Given the description of an element on the screen output the (x, y) to click on. 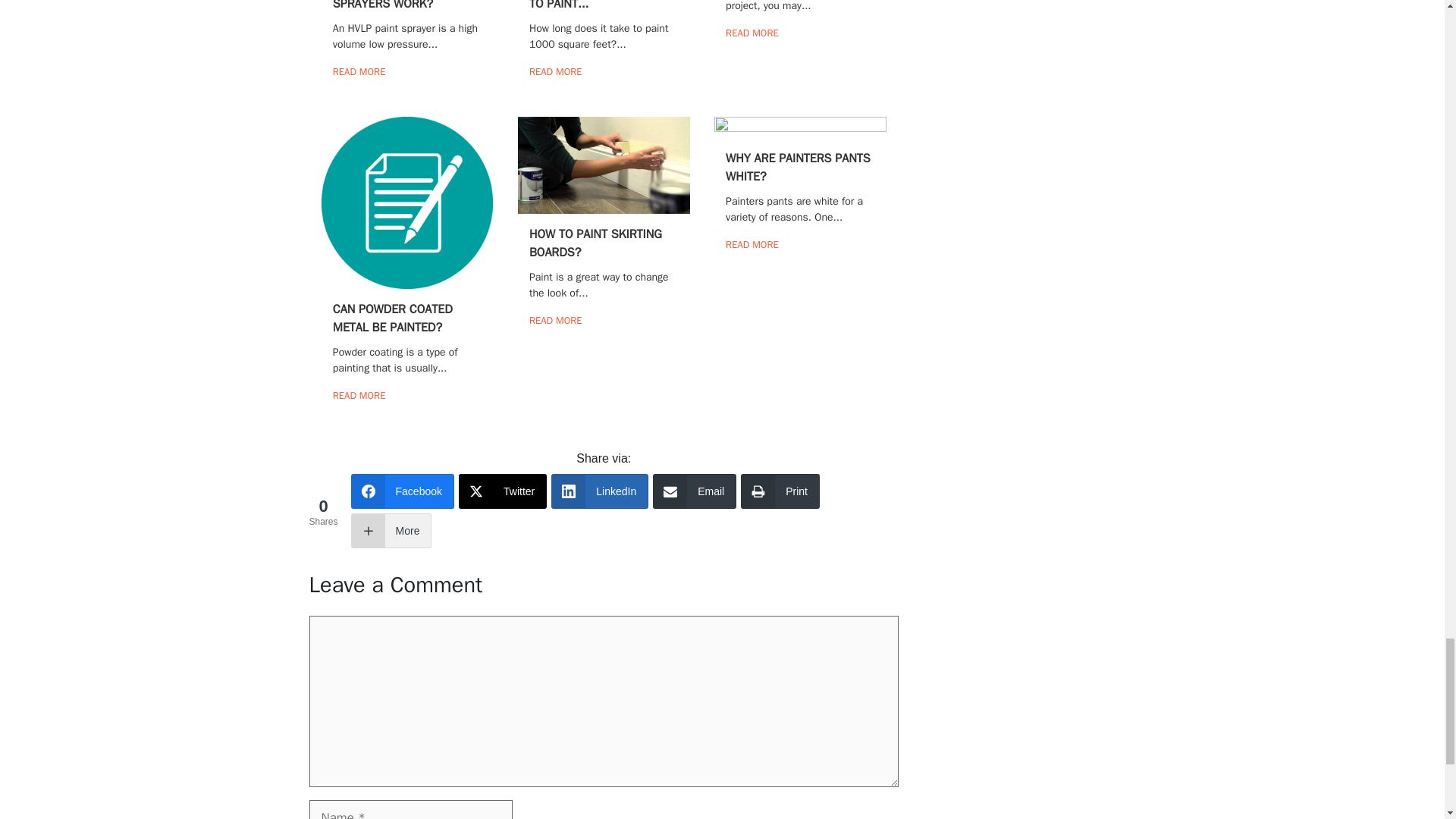
Twitter (502, 491)
HOW TO PAINT SKIRTING BOARDS? (595, 243)
Email (694, 491)
READ MORE (359, 71)
HOW DO HVLP PAINT SPRAYERS WORK? (388, 5)
CAN POWDER COATED METAL BE PAINTED? (392, 318)
READ MORE (555, 71)
HOW LONG DOES IT TAKE TO PAINT... (597, 5)
Print (780, 491)
WHY ARE PAINTERS PANTS WHITE? (797, 167)
